Given the description of an element on the screen output the (x, y) to click on. 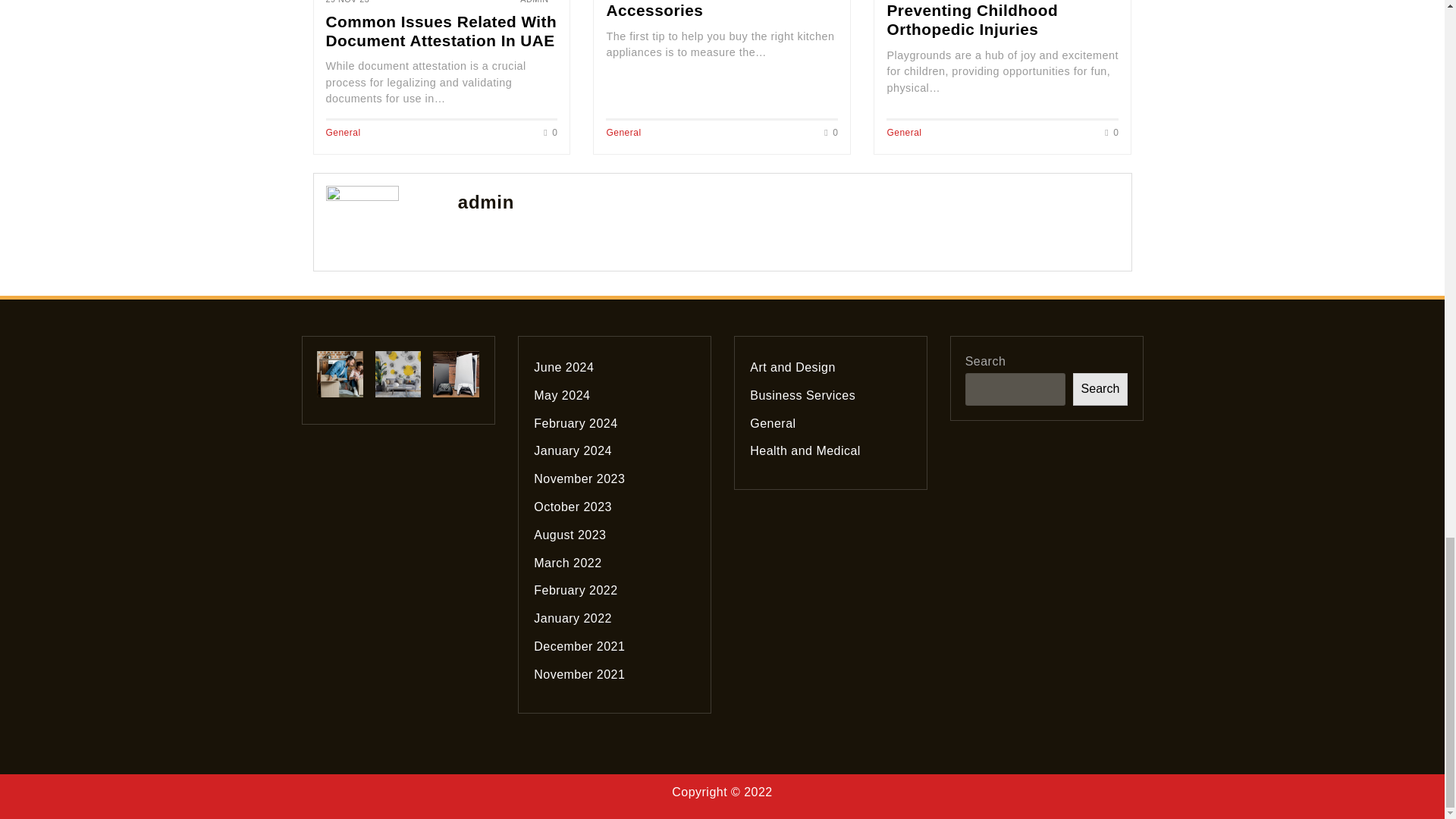
General (622, 132)
General (903, 132)
General (343, 132)
Playground Safety: Preventing Childhood Orthopedic Injuries (972, 18)
May 2024 (561, 395)
Tips to Help You Buy Kitchen Accessories (719, 9)
ADMIN (533, 2)
June 2024 (564, 367)
Common Issues Related With Document Attestation In UAE (441, 31)
29 NOV 23 (347, 3)
